Given the description of an element on the screen output the (x, y) to click on. 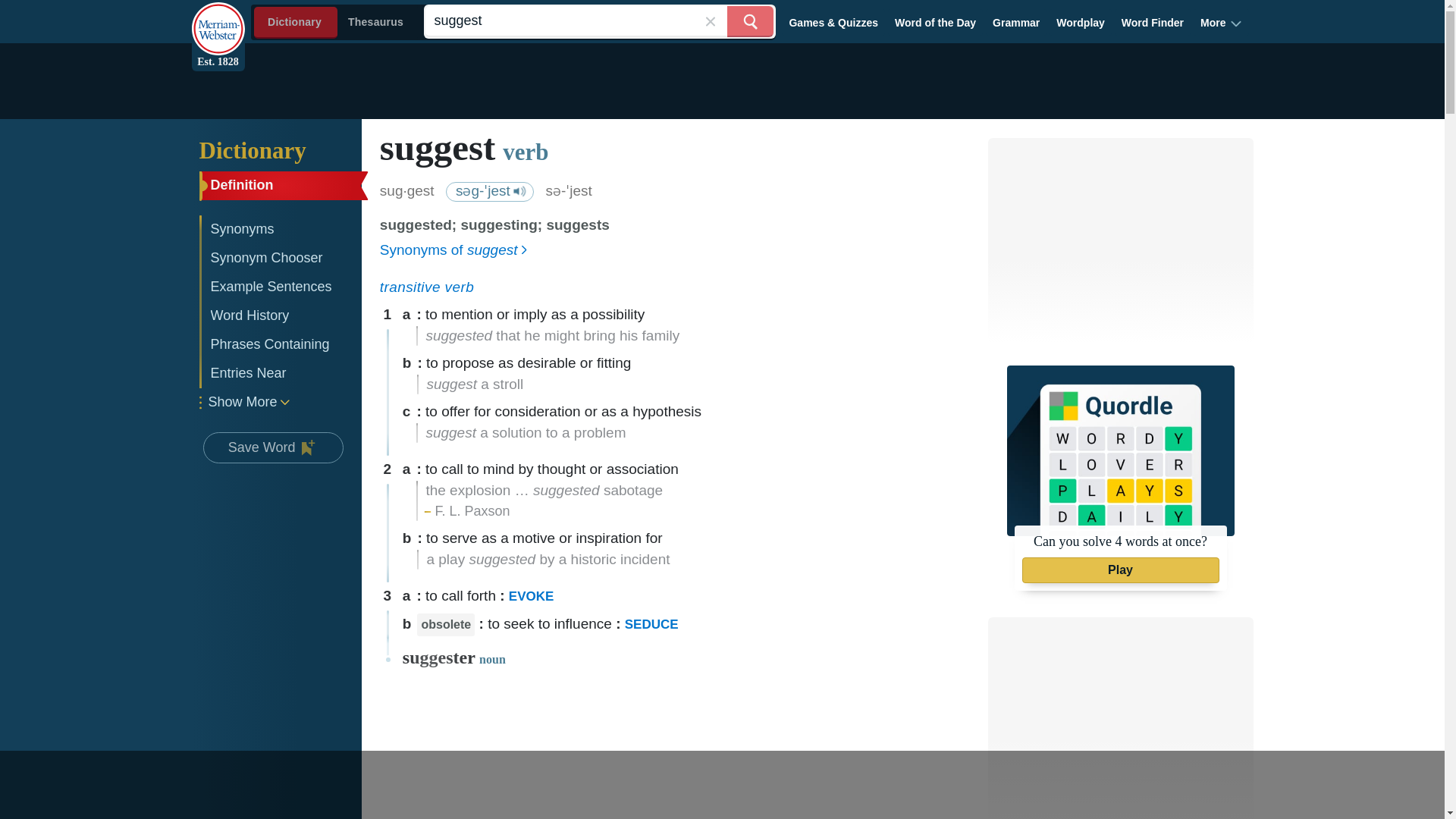
More (1220, 22)
Grammar (1015, 22)
close (710, 20)
Phrases Containing (280, 344)
suggest (599, 20)
Word History (280, 316)
Dictionary (283, 150)
Synonyms (280, 229)
Word of the Day (935, 22)
Example Sentences (280, 287)
Definition (280, 185)
